Given the description of an element on the screen output the (x, y) to click on. 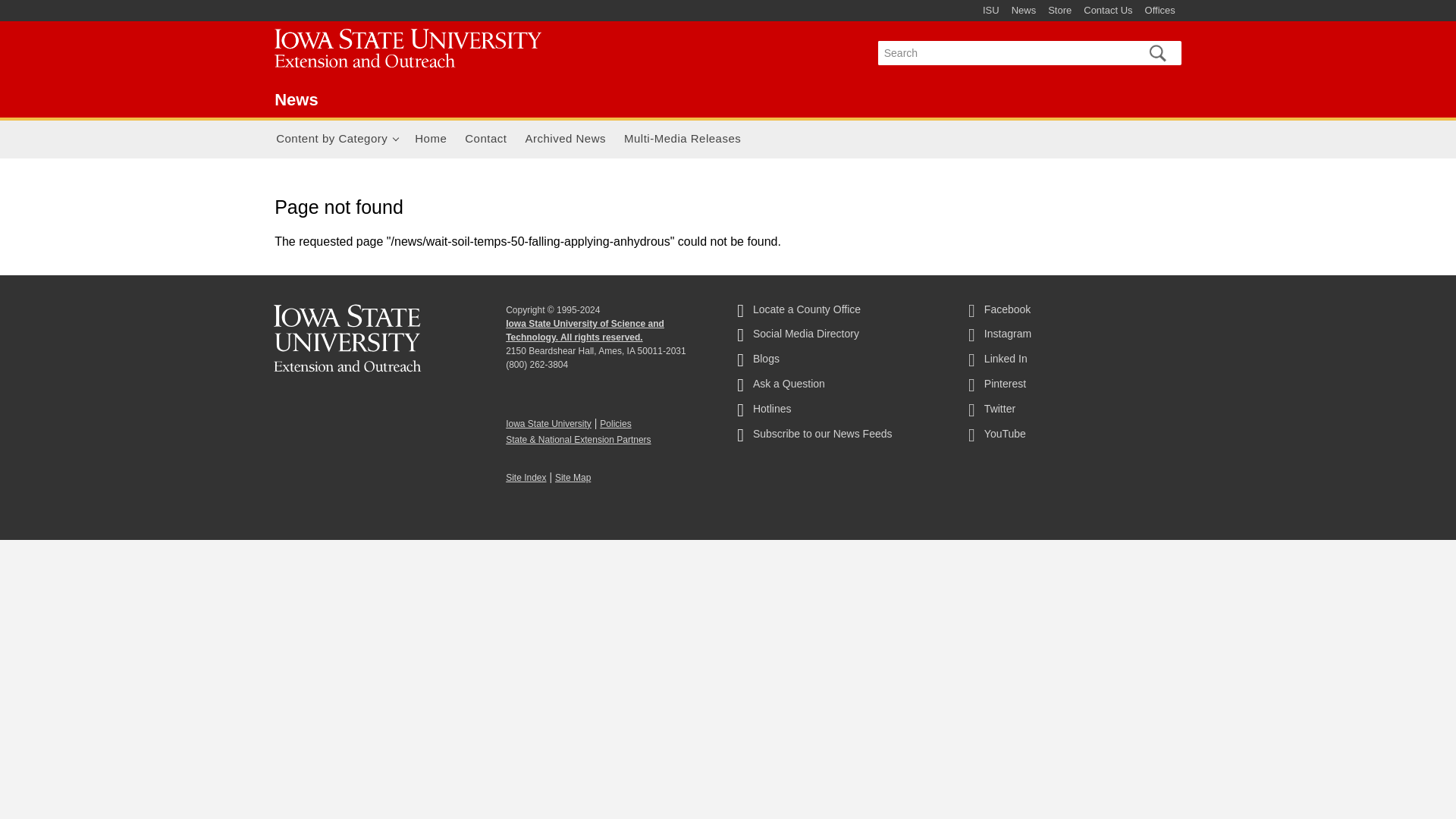
Home (430, 139)
Social Media Directory (840, 336)
Multi-Media Releases (681, 139)
Iowa State University (548, 423)
News (296, 99)
News (417, 50)
Enter the terms you wish to search for. (1003, 52)
Offices (1159, 10)
Site Index (525, 477)
Blogs (840, 362)
Contact Us (1107, 10)
News (1024, 10)
ISU (991, 10)
Ask a Question (840, 386)
